Given the description of an element on the screen output the (x, y) to click on. 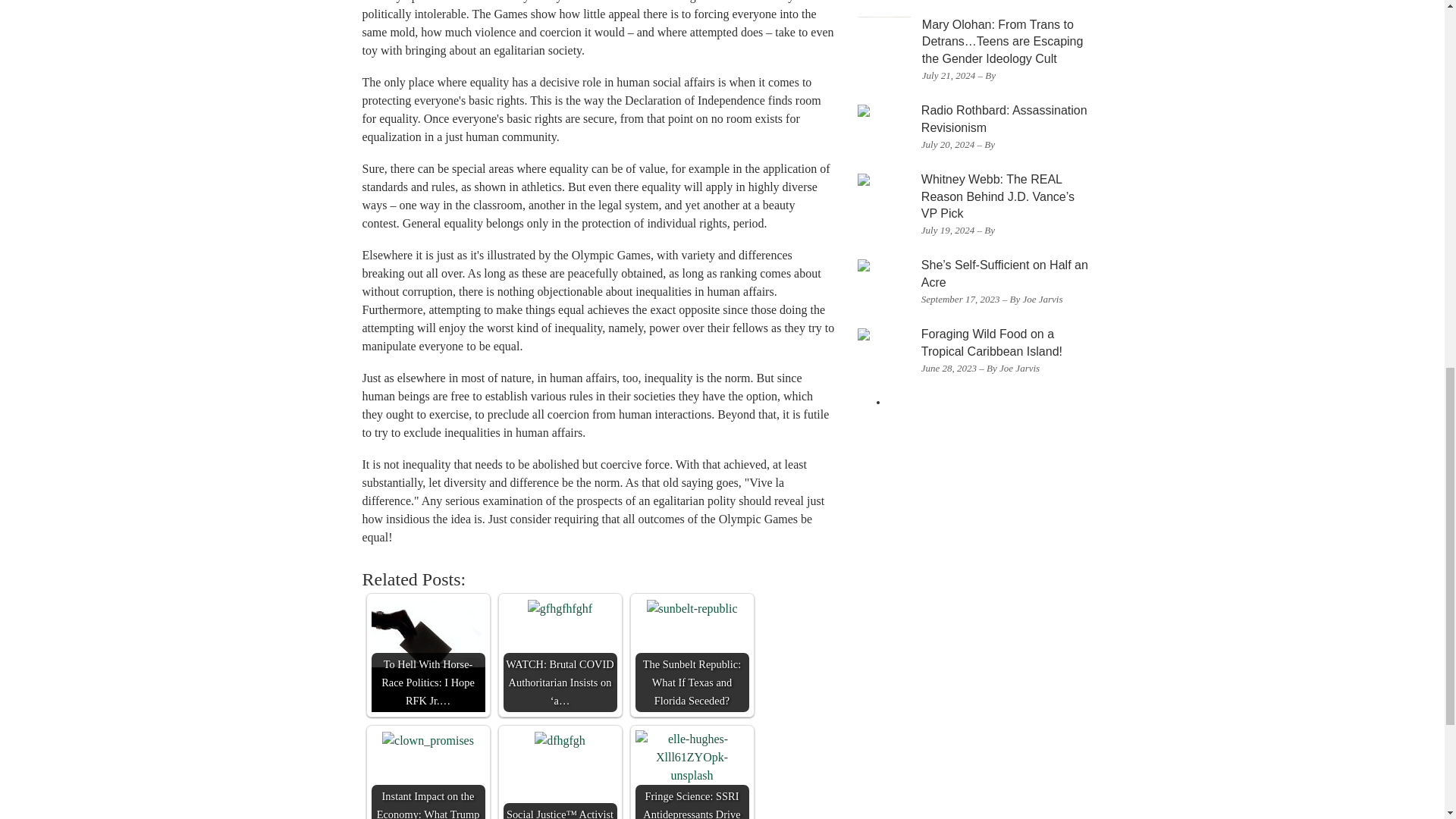
The Sunbelt Republic: What If Texas and Florida Seceded? (692, 608)
Foraging Wild Food on a Tropical Caribbean Island! (991, 342)
Radio Rothbard: Assassination Revisionism (1004, 119)
The Sunbelt Republic: What If Texas and Florida Seceded? (691, 654)
